Given the description of an element on the screen output the (x, y) to click on. 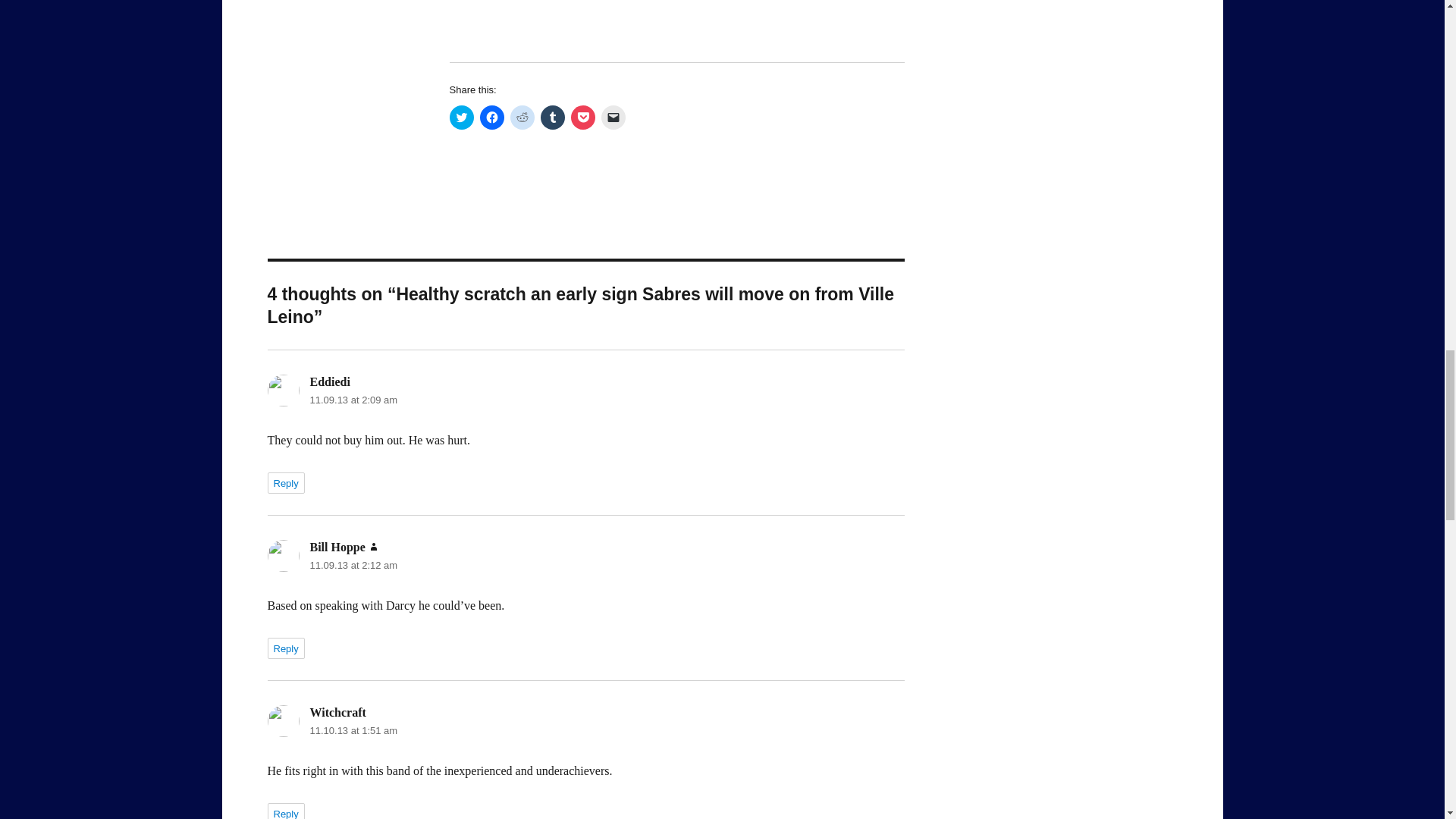
Click to share on Tumblr (552, 117)
Click to share on Pocket (582, 117)
Click to email a link to a friend (611, 117)
11.10.13 at 1:51 am (352, 730)
11.09.13 at 2:12 am (352, 564)
11.09.13 at 2:09 am (352, 399)
Click to share on Facebook (491, 117)
Reply (285, 482)
Click to share on Twitter (460, 117)
Reply (285, 648)
Reply (285, 811)
Click to share on Reddit (521, 117)
